Given the description of an element on the screen output the (x, y) to click on. 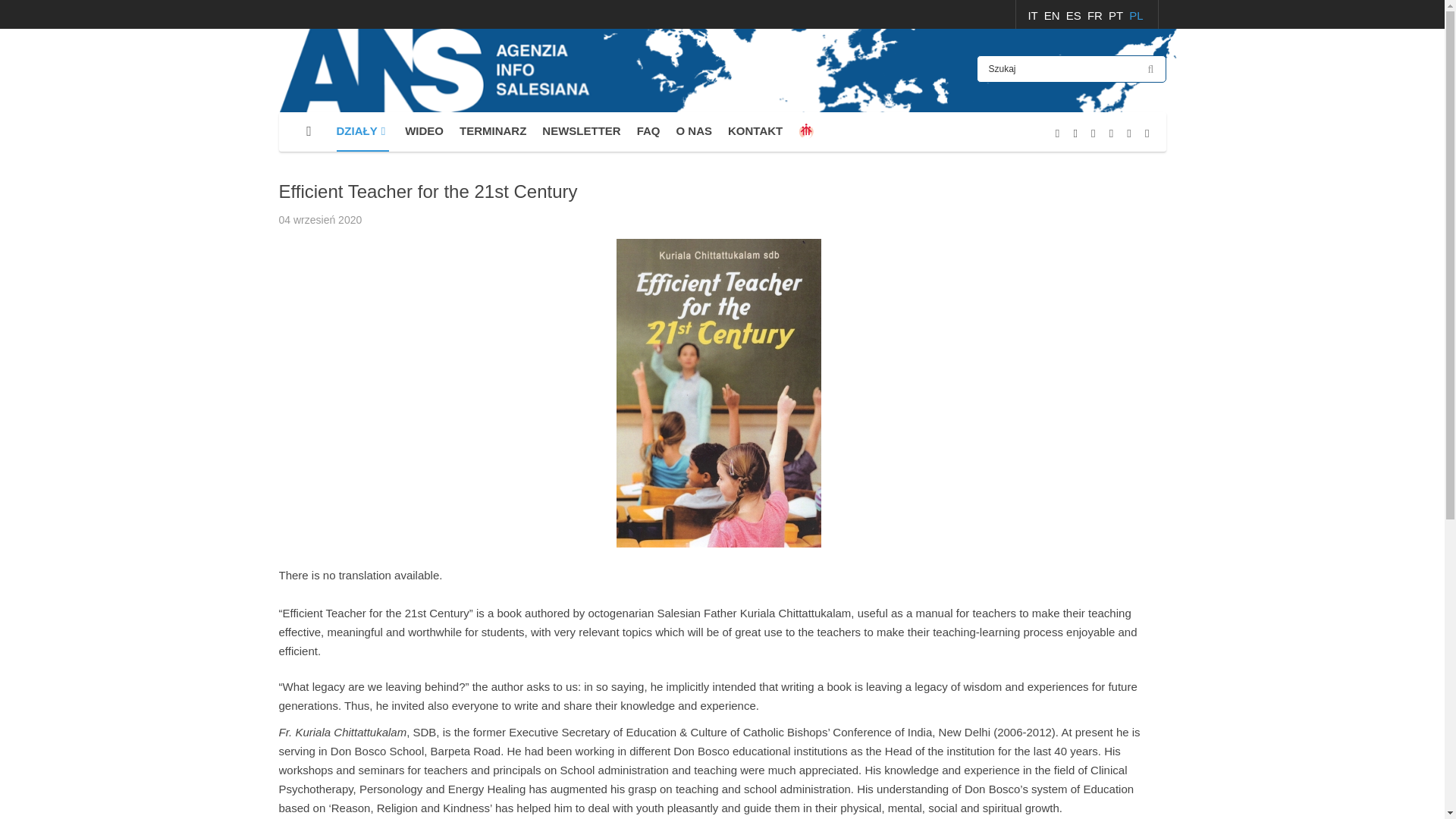
EN (1052, 15)
FR (1096, 15)
Szukaj (1071, 68)
PT (1116, 15)
ES (1074, 15)
PL (1135, 15)
IT (1034, 15)
